Given the description of an element on the screen output the (x, y) to click on. 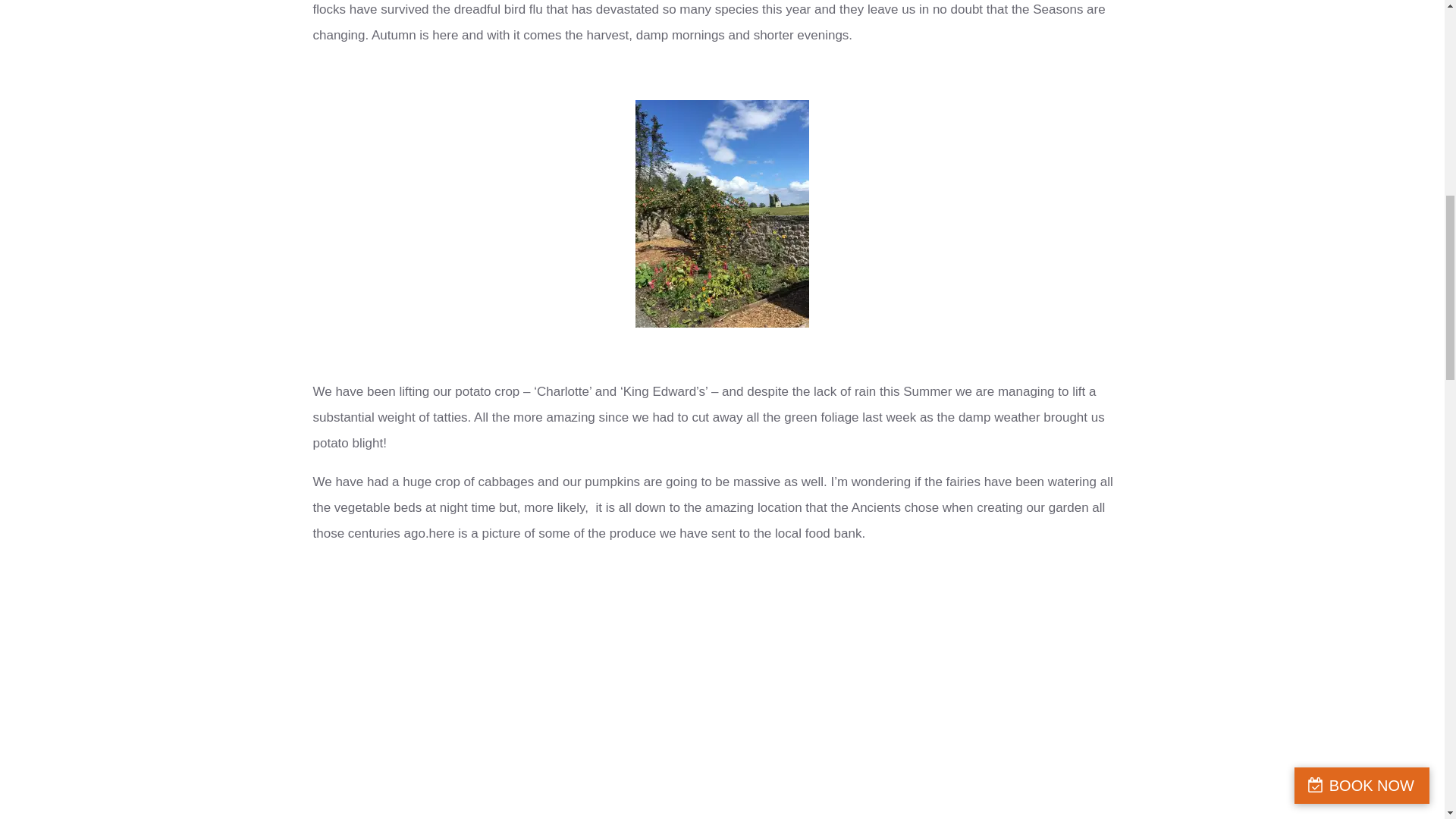
FareHarbor (1342, 64)
